Given the description of an element on the screen output the (x, y) to click on. 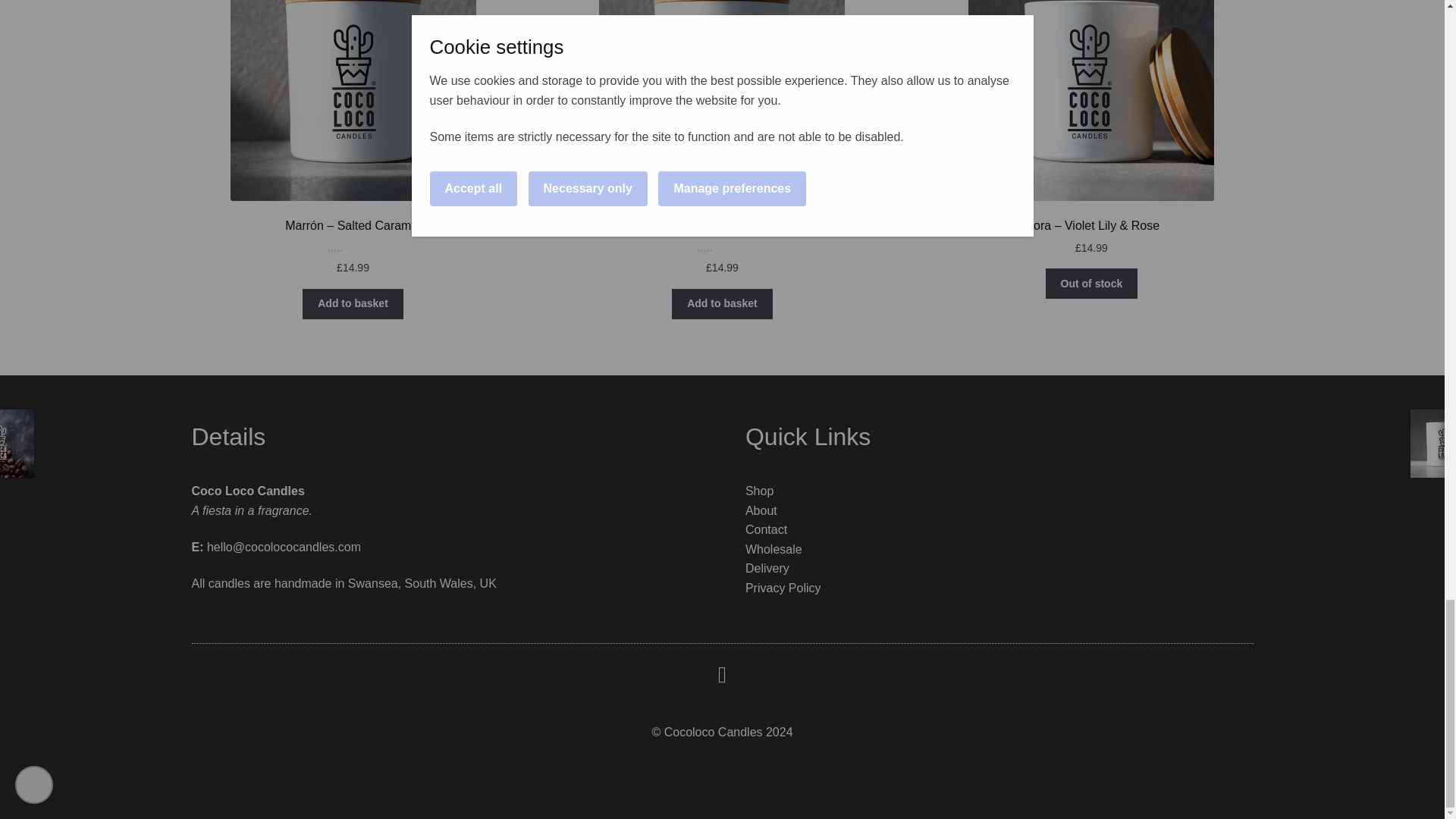
Add to basket (352, 304)
Add to basket (721, 304)
Out of stock (1091, 283)
Shop (759, 490)
